Given the description of an element on the screen output the (x, y) to click on. 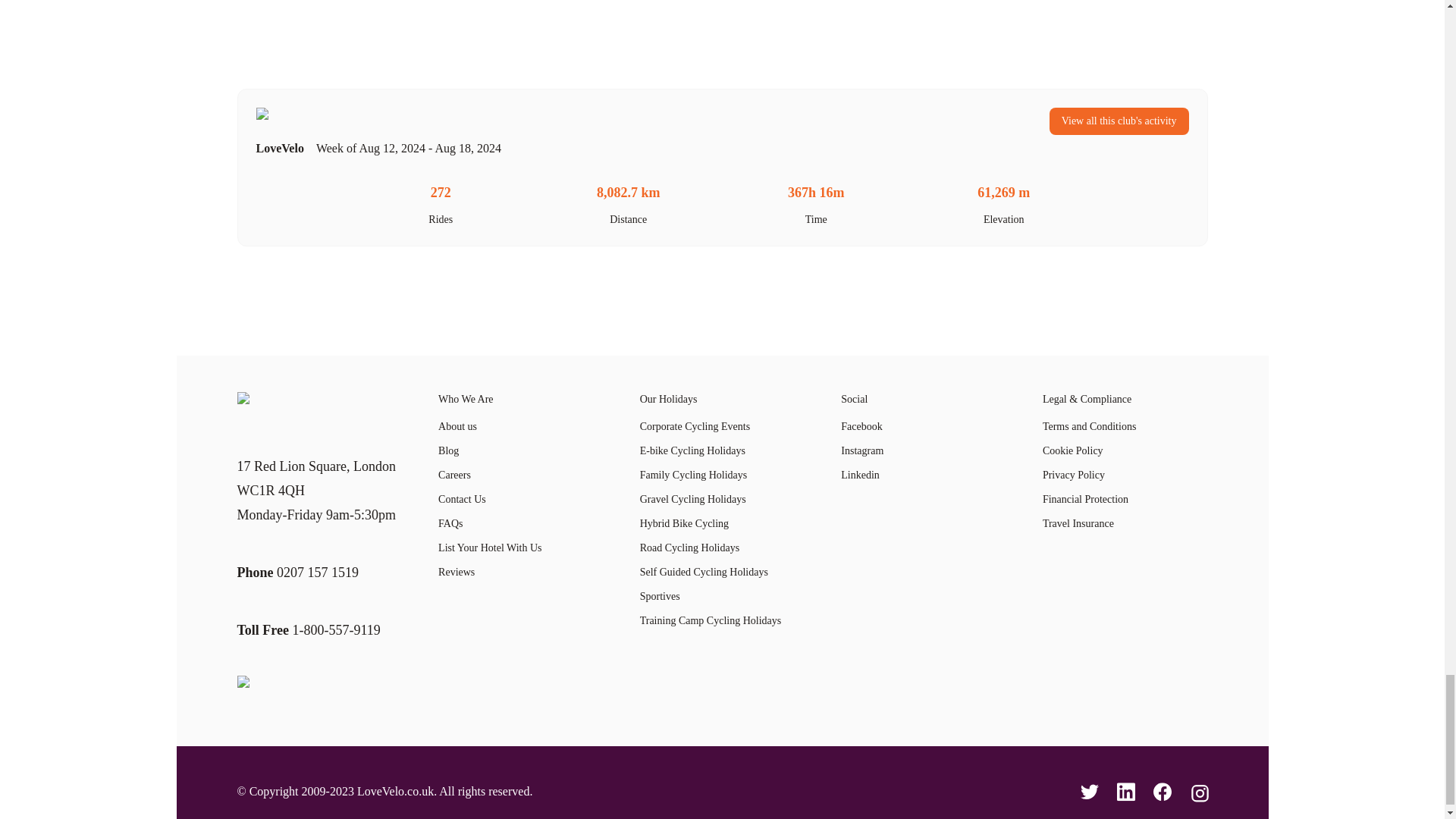
View all this club's activity (1119, 121)
List Your Hotel With Us (521, 548)
About us (521, 426)
Careers (521, 475)
FAQs (521, 523)
Contact Us (521, 499)
Blog (521, 450)
